Given the description of an element on the screen output the (x, y) to click on. 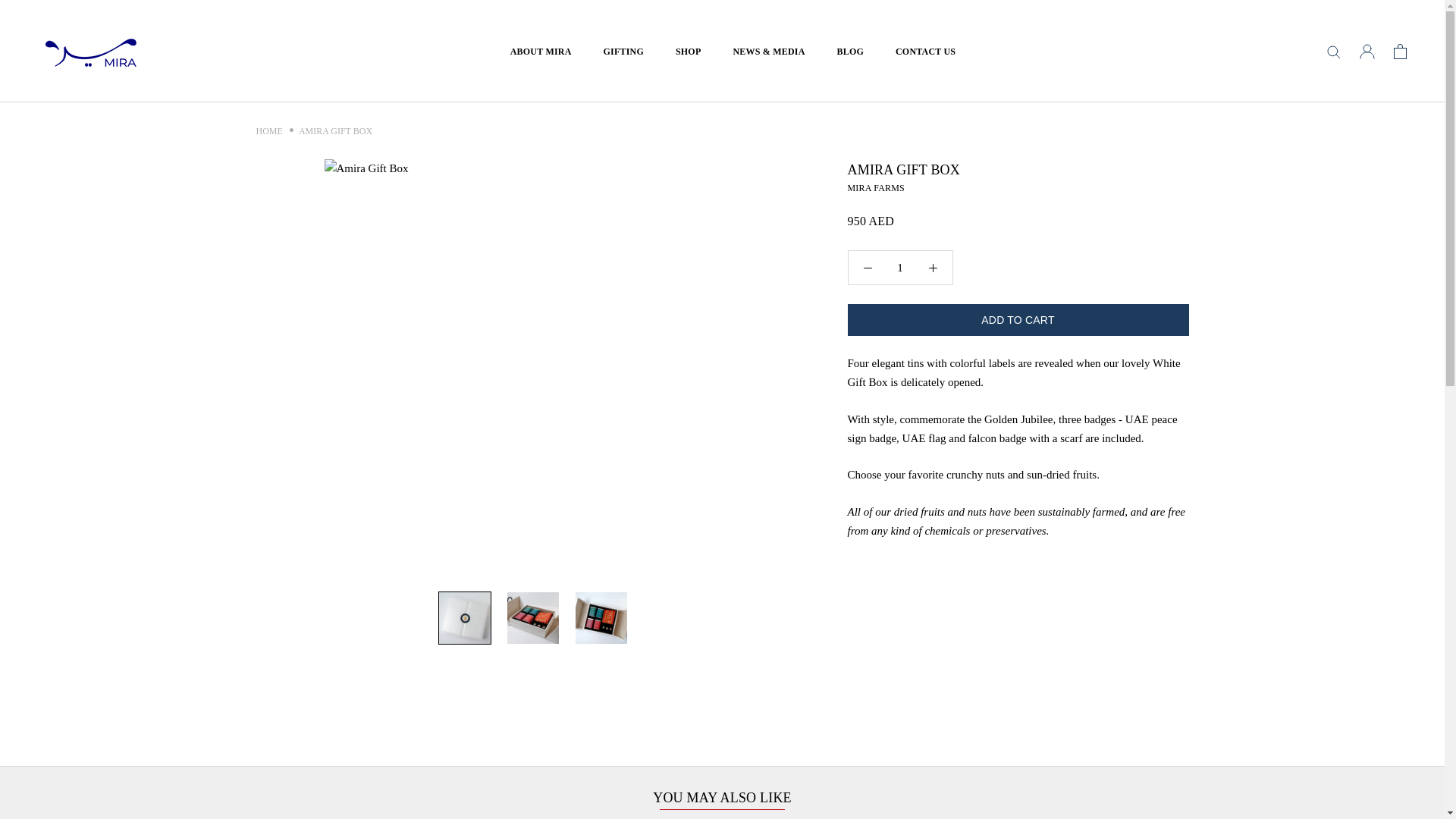
ABOUT MIRA (541, 50)
1 (900, 267)
Home (269, 131)
GIFTING (623, 50)
